Given the description of an element on the screen output the (x, y) to click on. 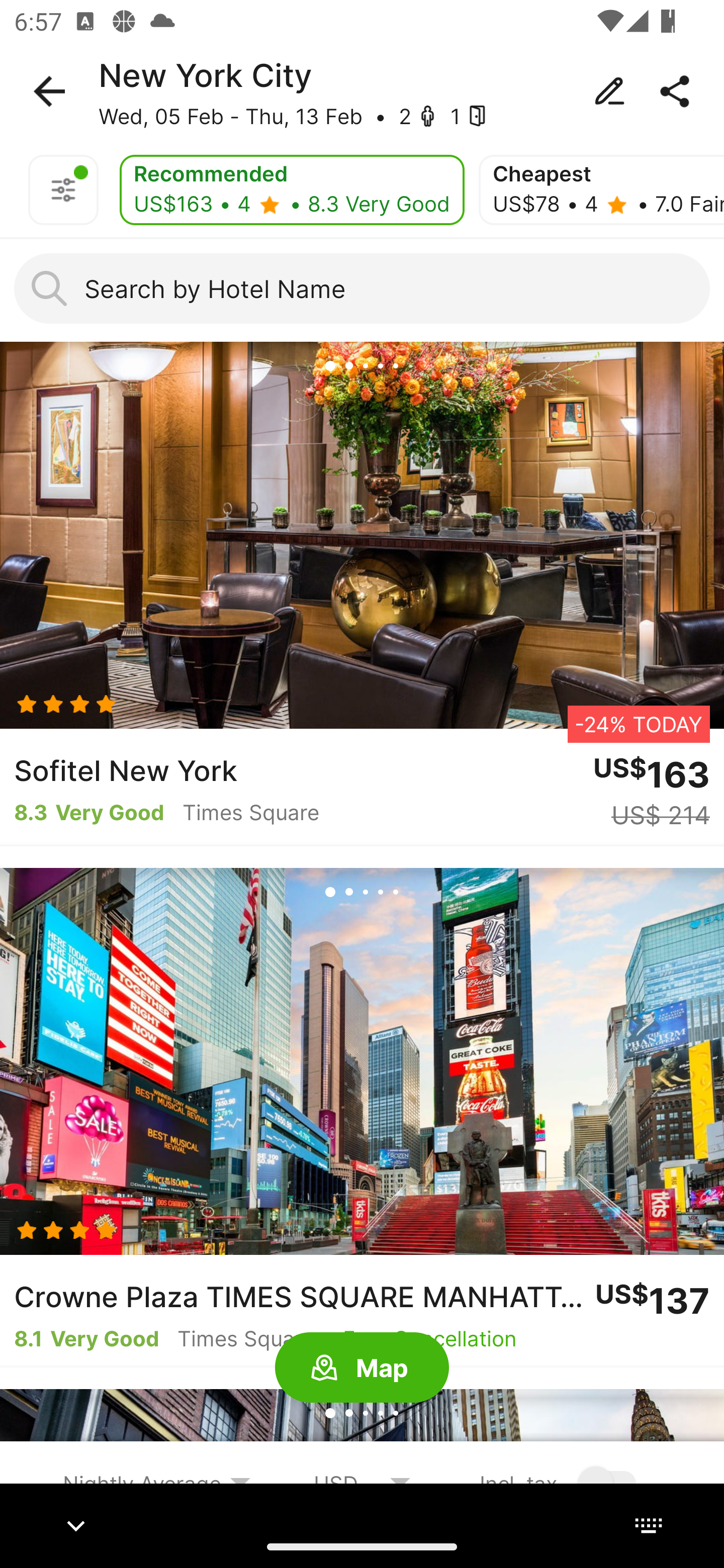
Recommended  US$163  • 4 - • 8.3 Very Good (291, 190)
Cheapest US$78  • 4 - • 7.0 Fair (601, 190)
Search by Hotel Name  (361, 288)
Map  (361, 1367)
